Given the description of an element on the screen output the (x, y) to click on. 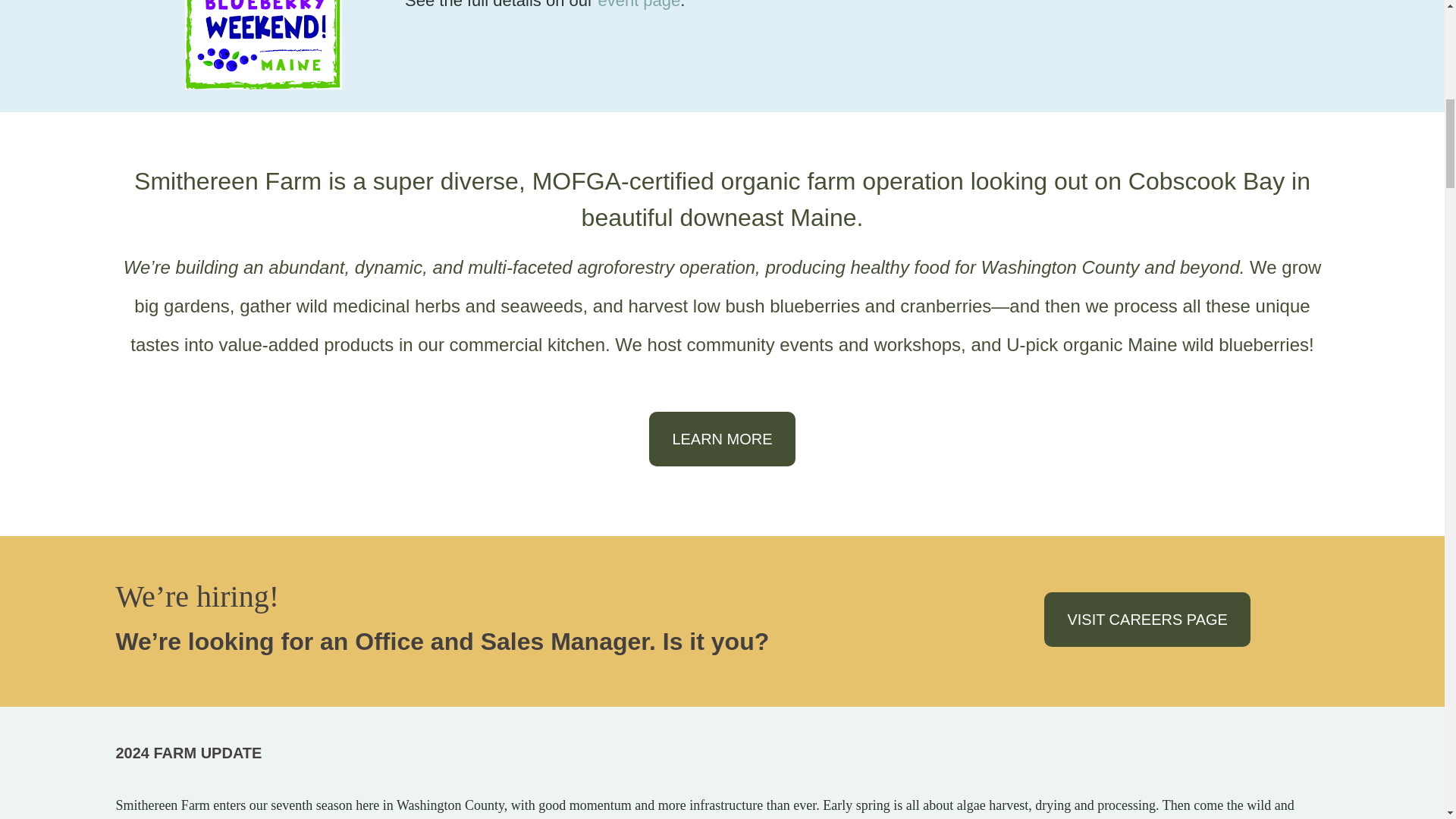
VISIT CAREERS PAGE (1146, 619)
event page (637, 4)
LEARN MORE (721, 438)
